Given the description of an element on the screen output the (x, y) to click on. 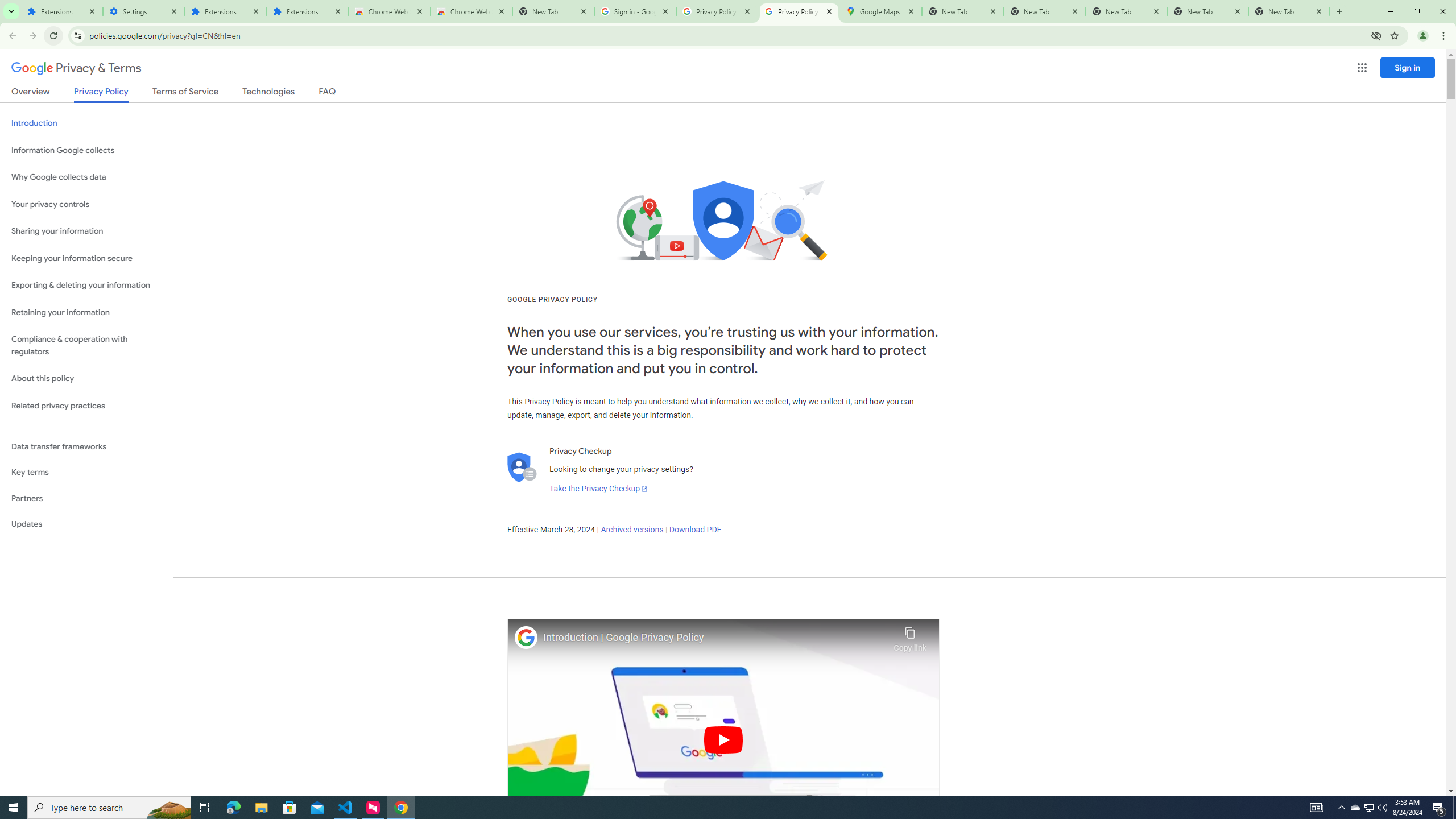
About this policy (86, 379)
Sharing your information (86, 230)
Information Google collects (86, 150)
Your privacy controls (86, 204)
Archived versions (631, 529)
Related privacy practices (86, 405)
Settings (143, 11)
Photo image of Google (526, 636)
